Given the description of an element on the screen output the (x, y) to click on. 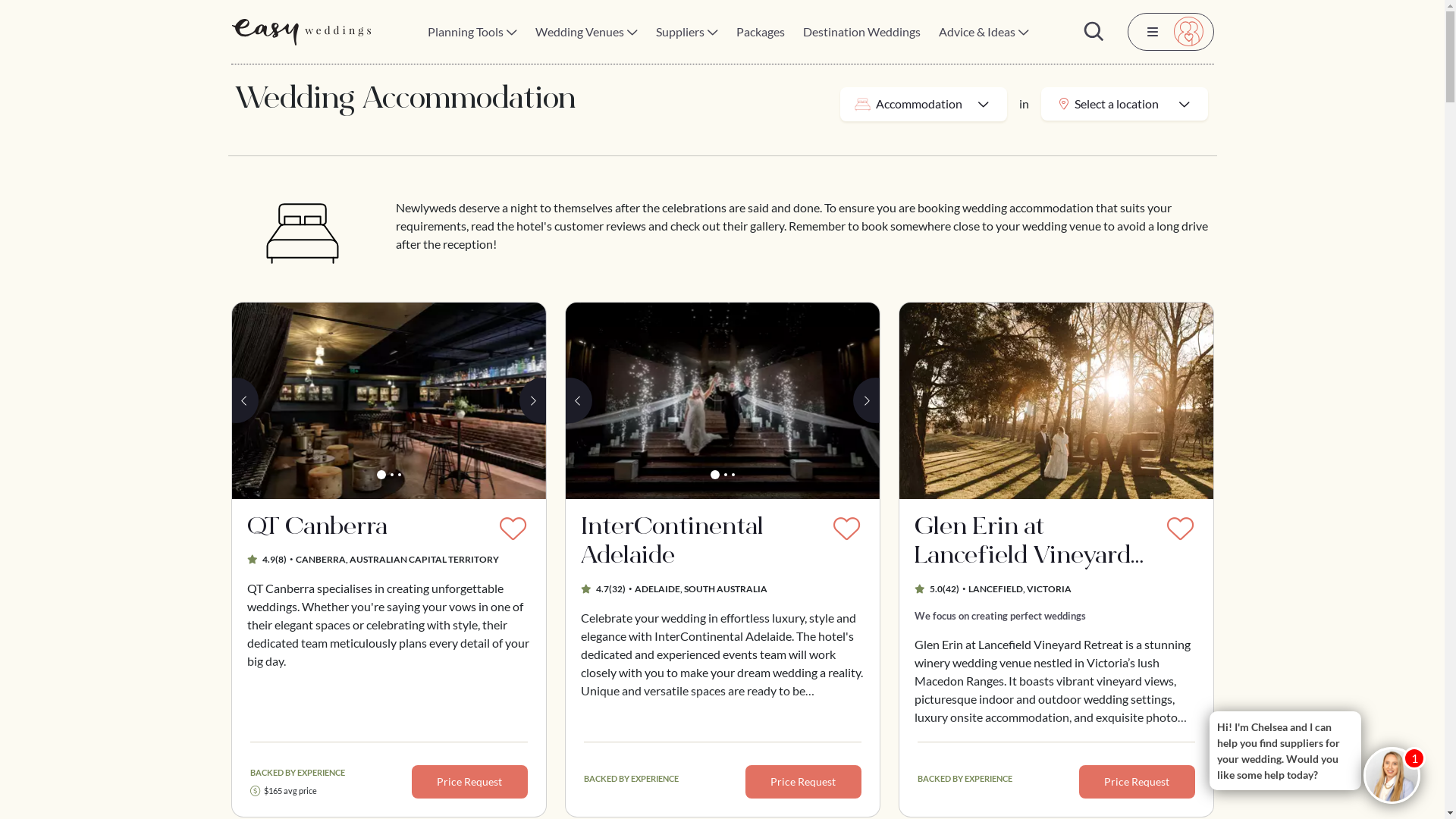
Price Request Element type: text (803, 781)
Previous Element type: text (578, 400)
Next Element type: text (531, 400)
QT Canberra Element type: hover (389, 400)
Destination Weddings Element type: text (861, 31)
Suppliers Element type: text (686, 31)
Glen Erin at Lancefield Vineyard Retreat Element type: hover (1056, 400)
InterContinental Adelaide Element type: hover (722, 400)
Price Request Element type: text (469, 781)
Planning Tools Element type: text (472, 31)
Packages Element type: text (760, 31)
InterContinental Adelaide Element type: text (704, 543)
Advice & Ideas Element type: text (983, 31)
Select a location Element type: text (1123, 103)
Price Request Element type: text (1137, 781)
Chelseabot Element type: hover (1391, 774)
Next Element type: text (865, 400)
Accommodation Element type: text (923, 103)
Glen Erin at Lancefield Vineyard Retreat Element type: text (1037, 543)
Wedding Venues Element type: text (586, 31)
QT Canberra Element type: text (370, 528)
Previous Element type: text (245, 400)
